Given the description of an element on the screen output the (x, y) to click on. 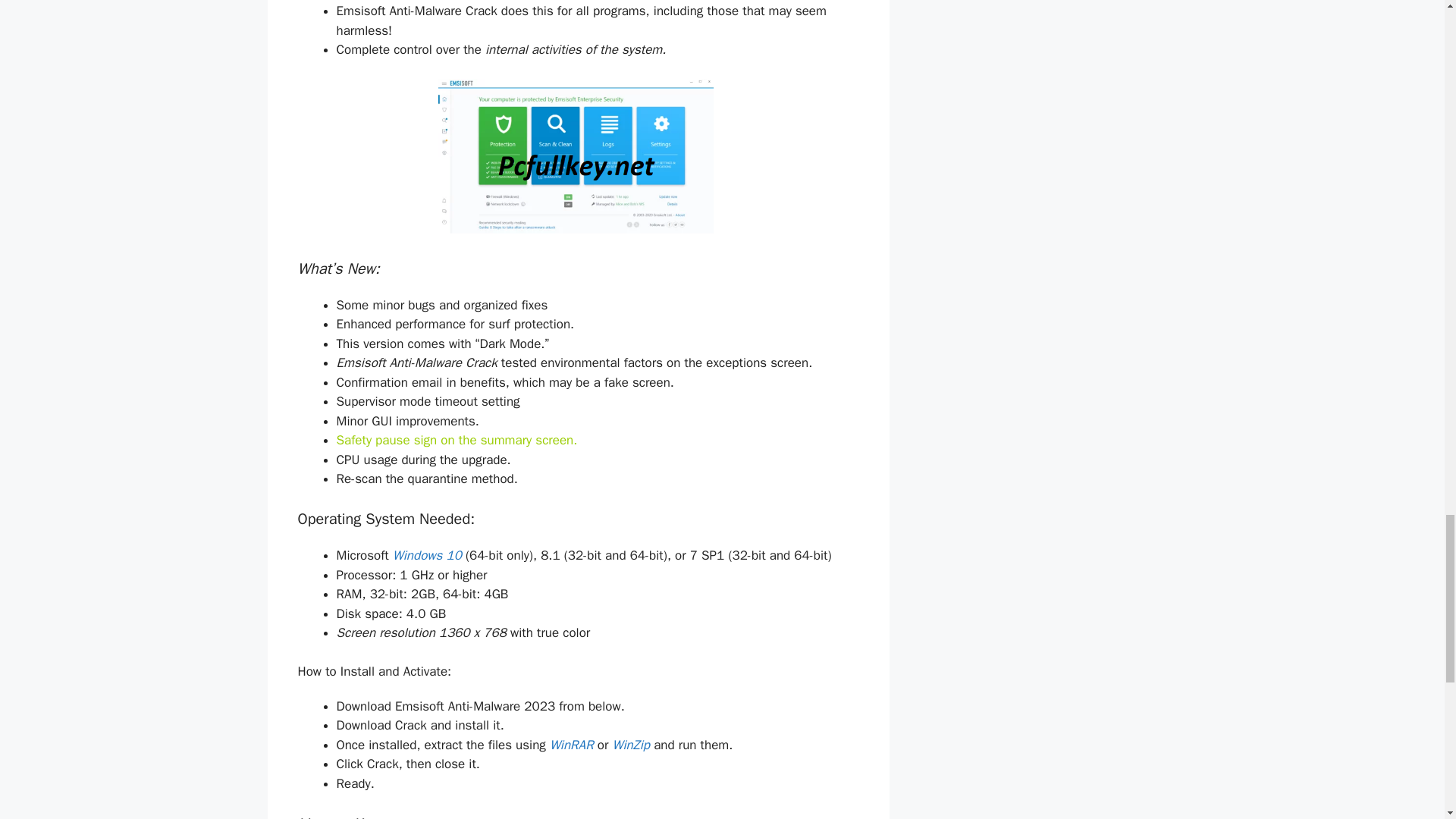
WinZip (630, 744)
WinRAR (572, 744)
Windows 10 (427, 555)
